Given the description of an element on the screen output the (x, y) to click on. 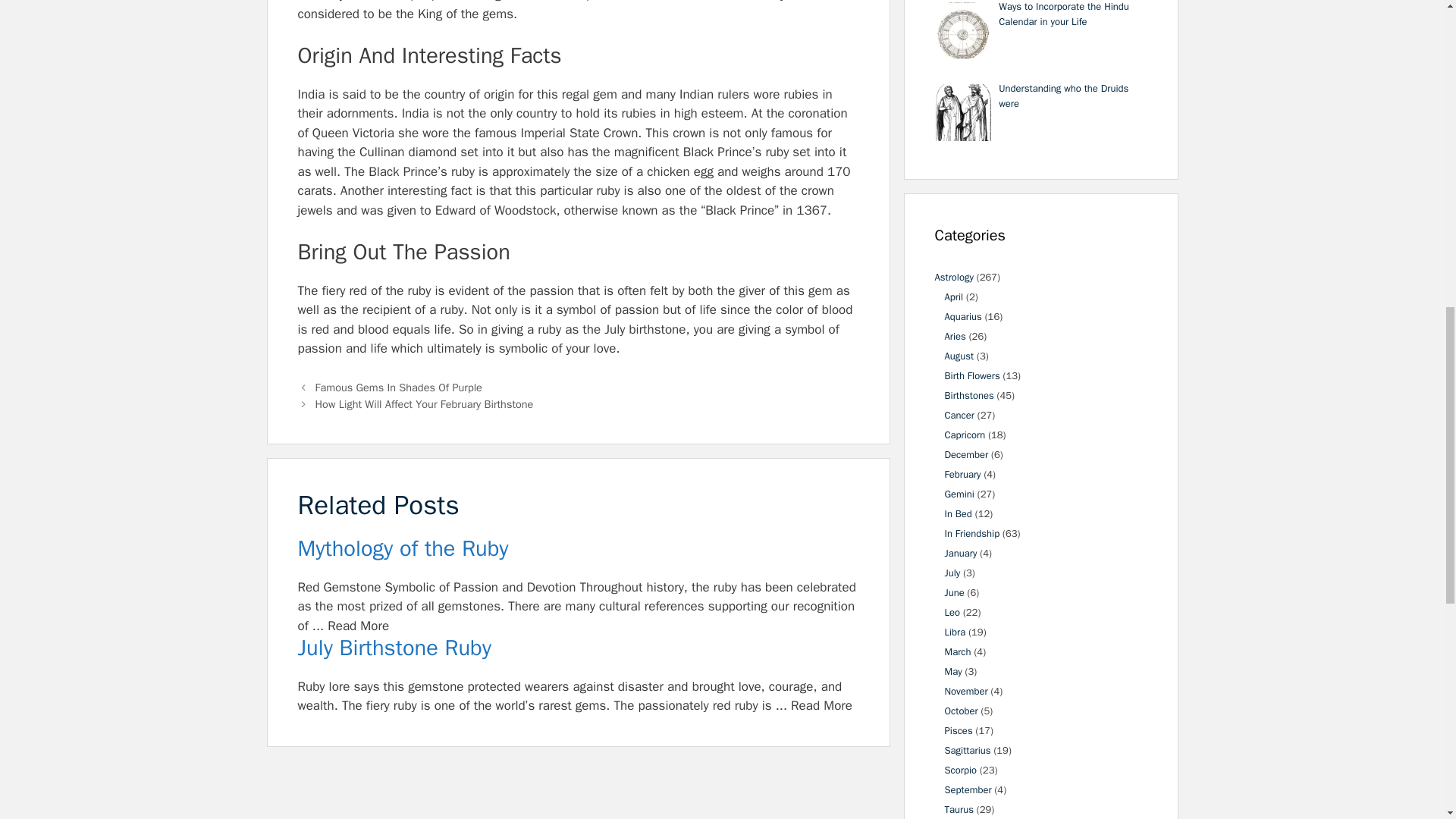
July Birthstone Ruby (578, 648)
Mythology of the Ruby (578, 549)
